Given the description of an element on the screen output the (x, y) to click on. 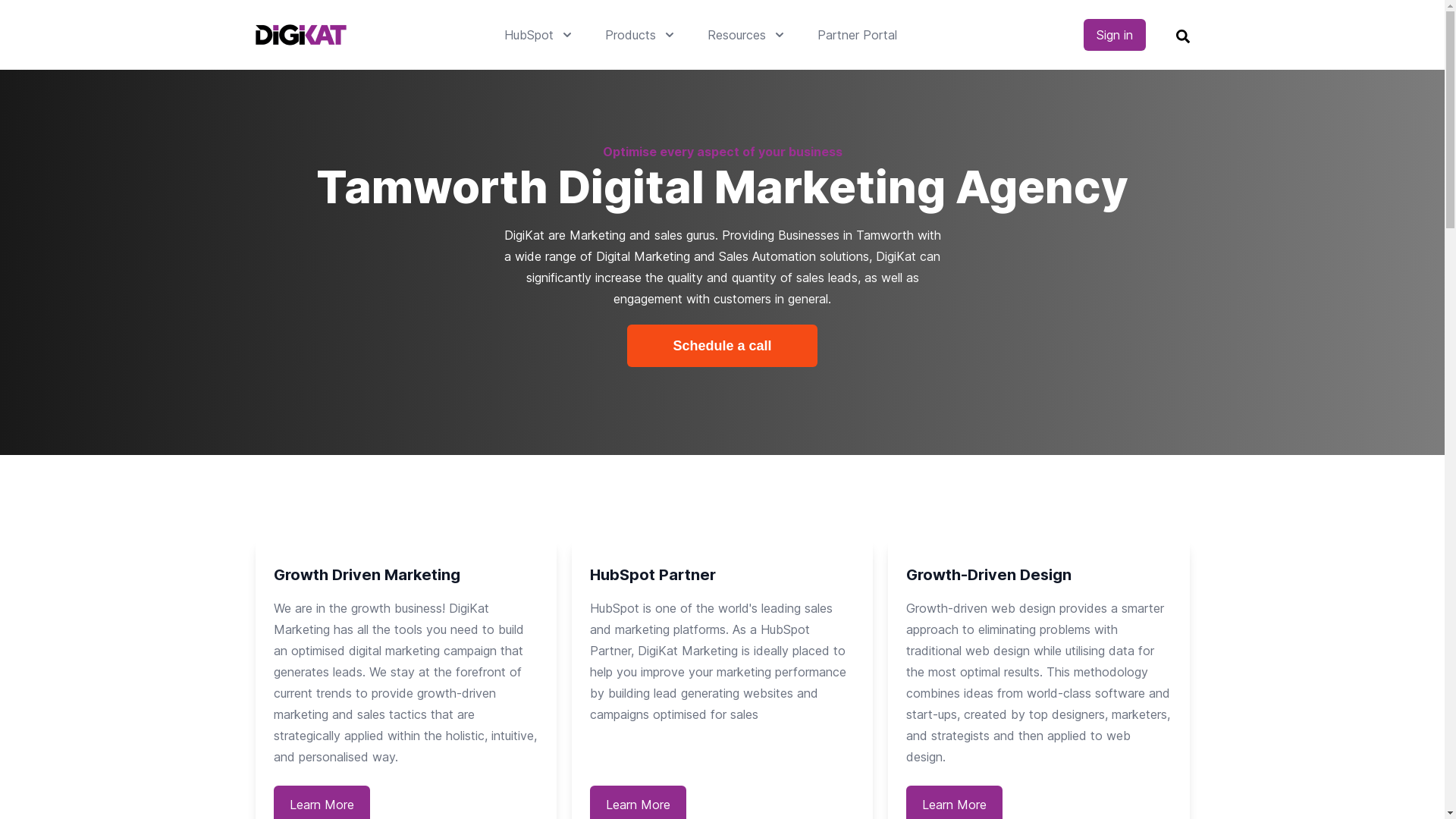
Products Element type: text (641, 34)
Partner Portal Element type: text (857, 34)
HubSpot Element type: text (538, 34)
Sign in Element type: text (1113, 34)
Schedule a call Element type: text (721, 345)
Resources Element type: text (746, 34)
DigiKat Marketing Element type: hover (299, 34)
